Given the description of an element on the screen output the (x, y) to click on. 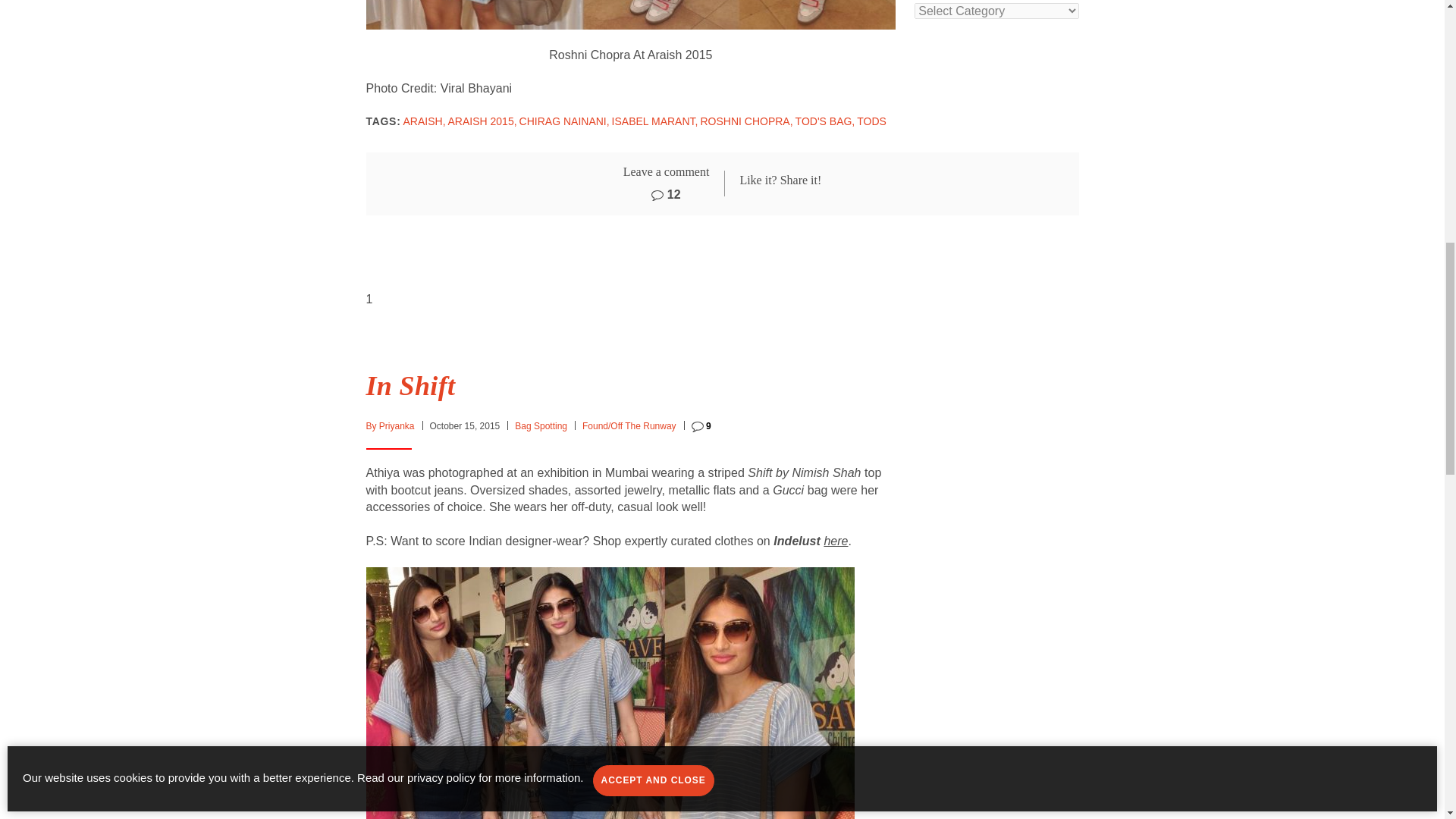
In Shift (409, 386)
ISABEL MARANT, (654, 121)
9 (701, 425)
Bag Spotting (541, 425)
TOD'S BAG, (825, 121)
ROSHNI CHOPRA, (746, 121)
CHIRAG NAINANI, (564, 121)
TODS (871, 121)
ARAISH, (424, 121)
By Priyanka (389, 425)
12 (664, 194)
here (835, 541)
ARAISH 2015, (482, 121)
